Given the description of an element on the screen output the (x, y) to click on. 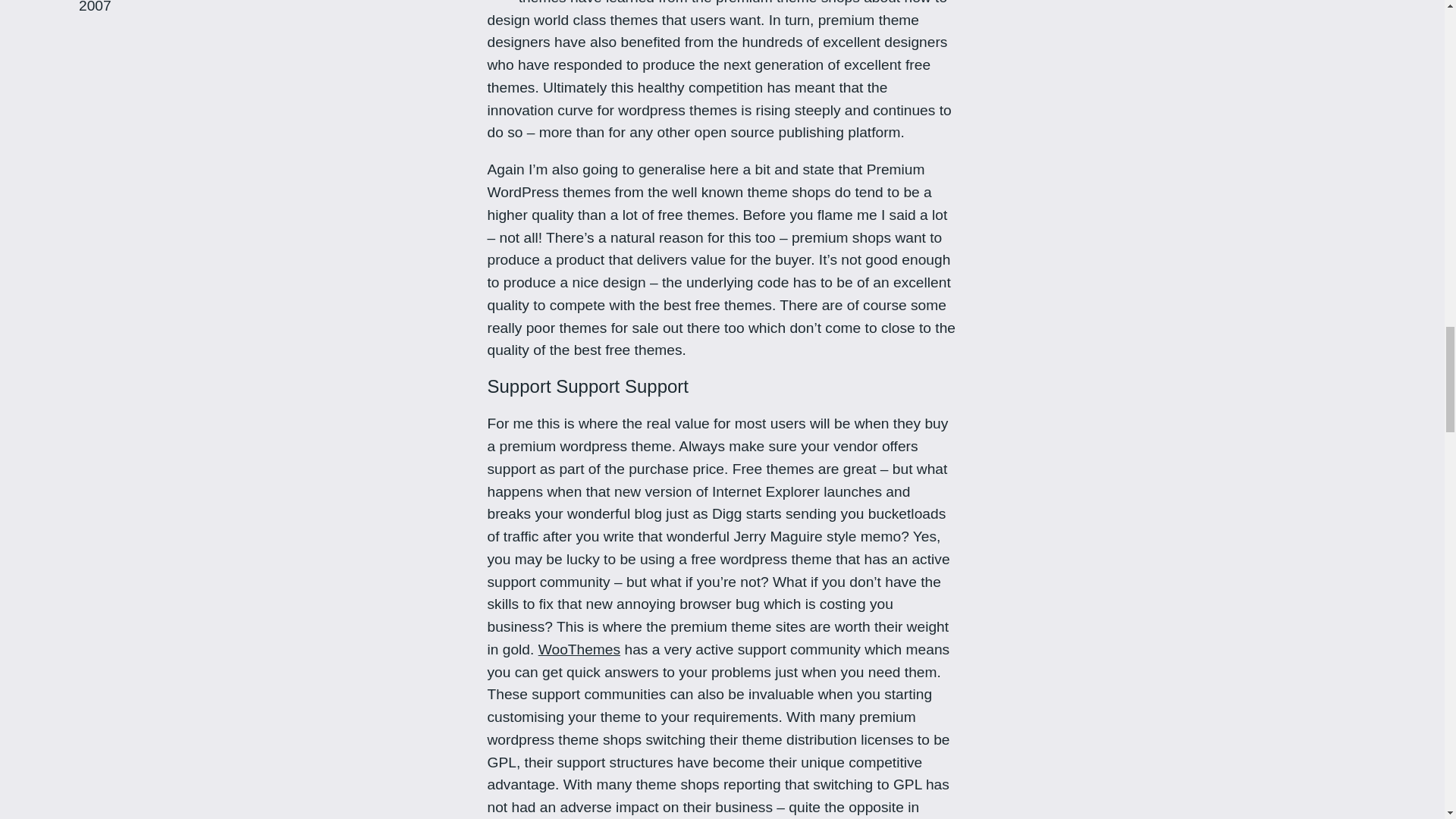
WooThemes (579, 649)
